Given the description of an element on the screen output the (x, y) to click on. 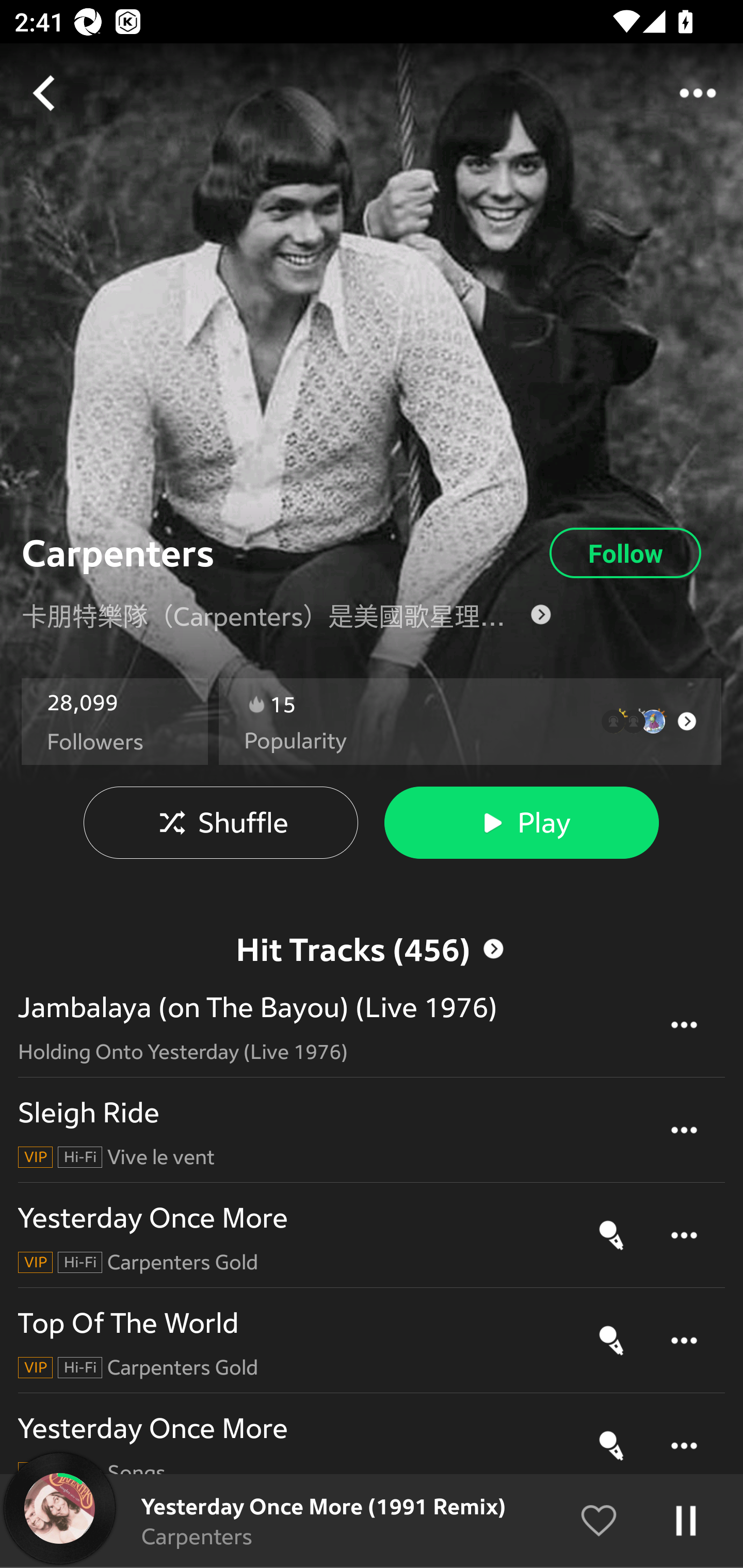
Follow (625, 553)
15 Popularity (469, 721)
Popularity (294, 740)
Shuffle (220, 823)
Play (521, 823)
Hit Tracks (456) (371, 949)
Sleigh Ride VIP Hi-Fi Vive le vent (371, 1130)
Yesterday Once More VIP Hi-Fi Carpenters Gold (371, 1235)
Top Of The World VIP Hi-Fi Carpenters Gold (371, 1340)
Yesterday Once More VIP Love Songs (371, 1446)
Yesterday Once More (1991 Remix) Carpenters (371, 1520)
